Given the description of an element on the screen output the (x, y) to click on. 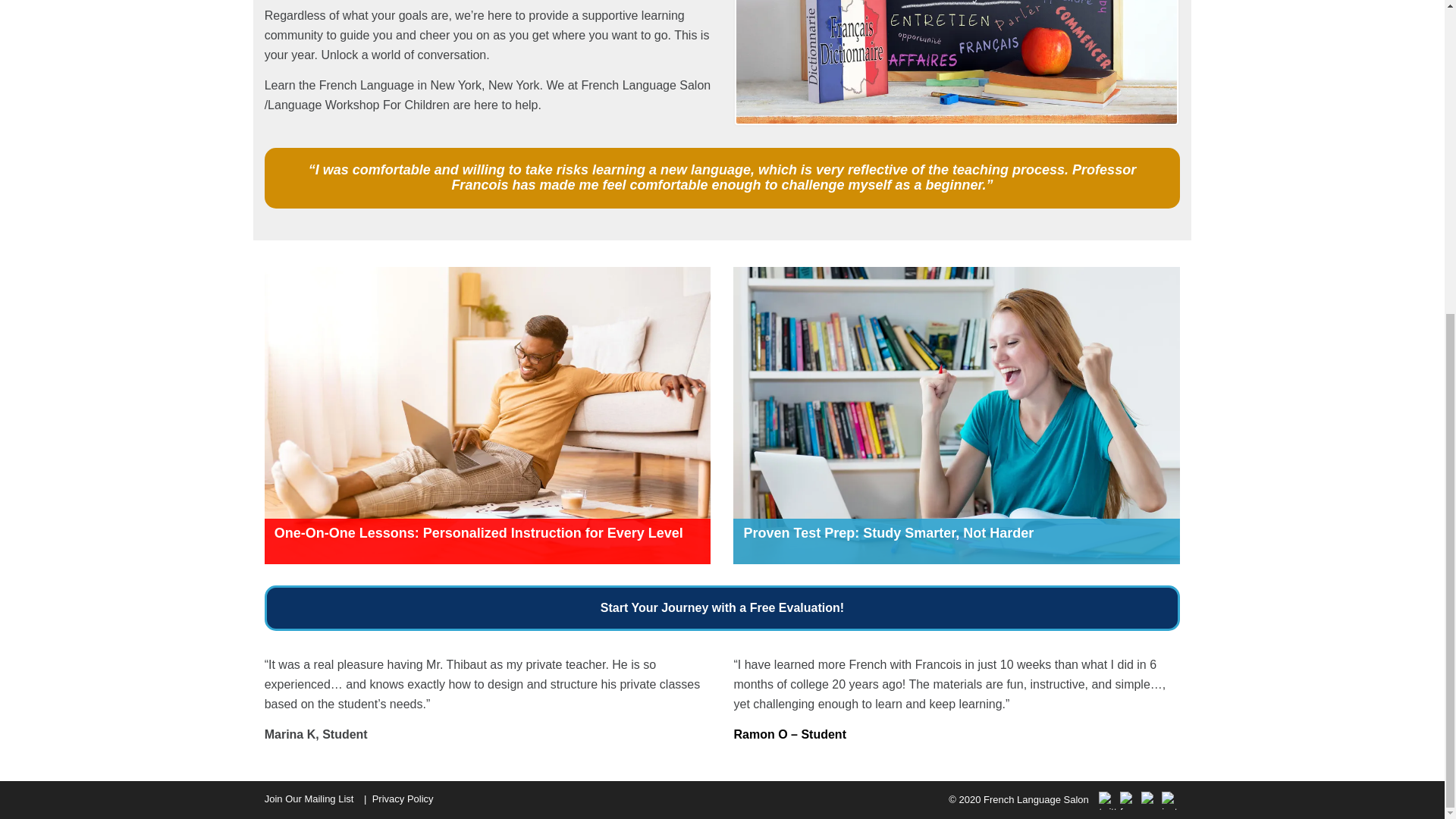
Twitter (1107, 800)
Email (1149, 800)
Join Our Mailing List (308, 798)
Start Your Journey with a Free Evaluation! (722, 607)
Instagram (1170, 800)
 Privacy Policy (401, 798)
Facebook (1128, 800)
